Given the description of an element on the screen output the (x, y) to click on. 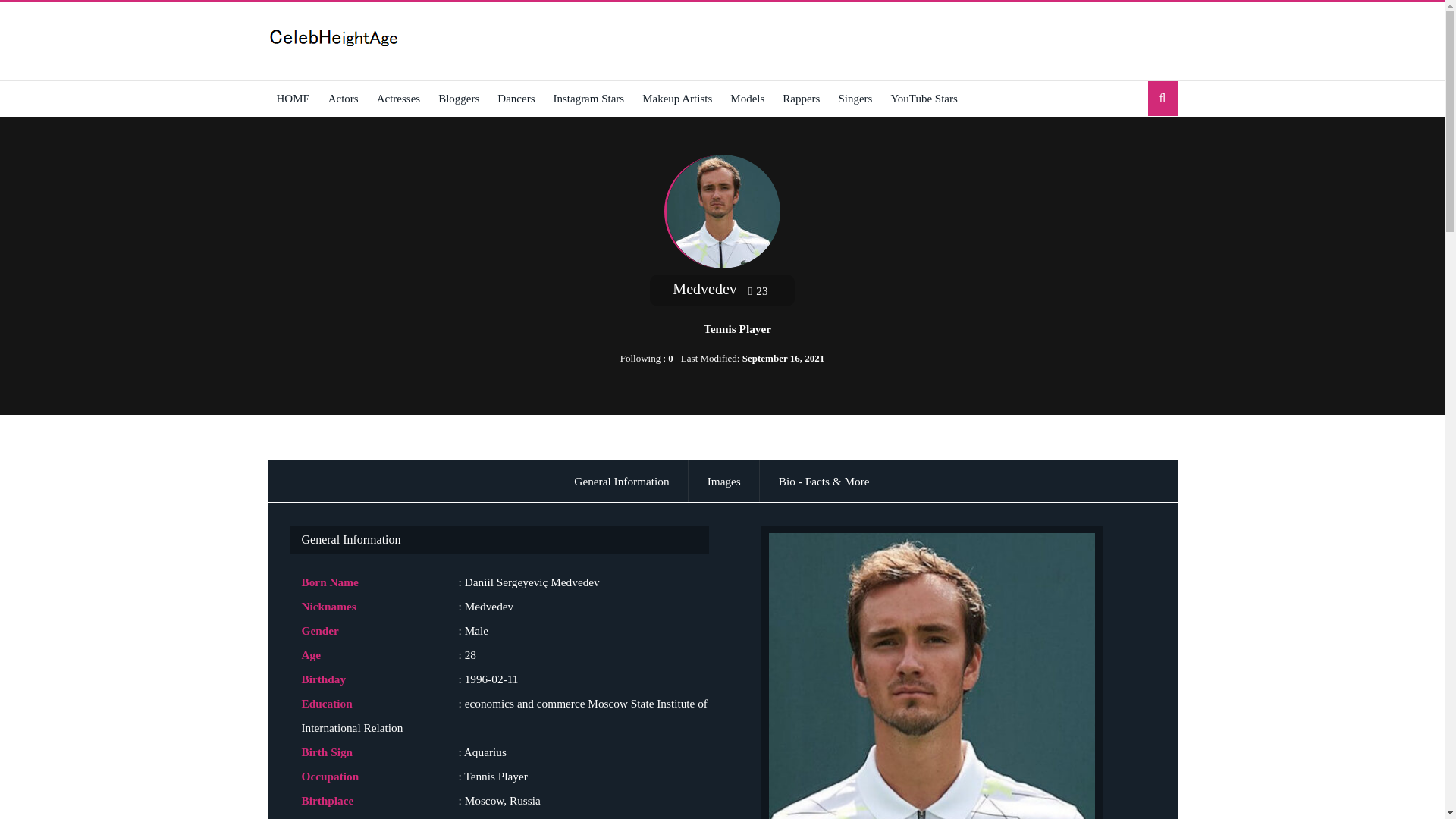
HOME (292, 99)
General Information (621, 481)
Medvedev (931, 672)
Images (723, 481)
Instagram Stars (588, 99)
Like (759, 290)
Dancers (515, 99)
YouTube Stars (923, 99)
Medvedev (723, 211)
Models (746, 99)
Actresses (398, 99)
Bloggers (458, 99)
Rappers (800, 99)
Actors (343, 99)
Makeup Artists (676, 99)
